Given the description of an element on the screen output the (x, y) to click on. 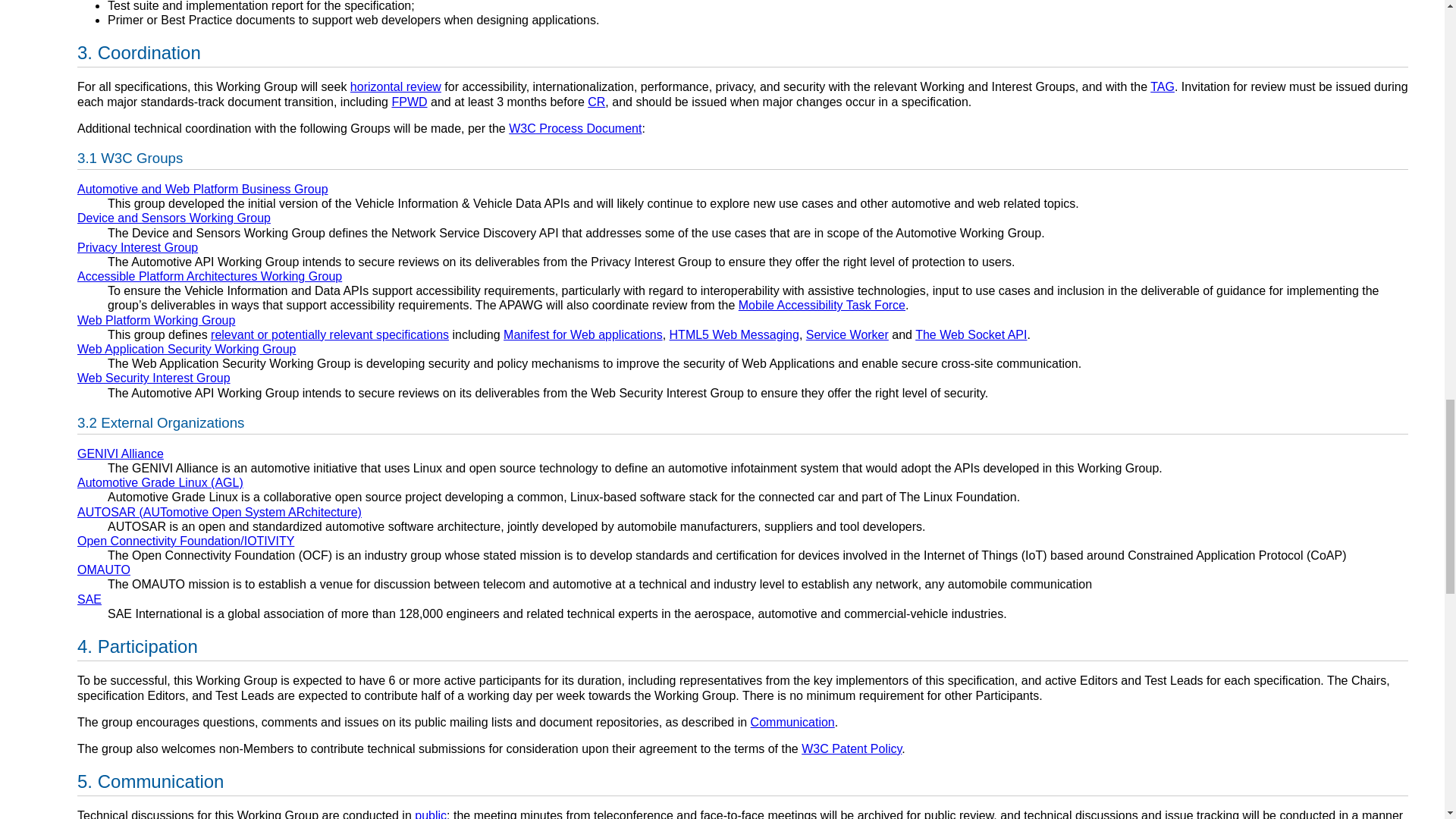
relevant or potentially relevant specifications (329, 334)
Technical Architecture Group (1162, 86)
Web Platform Working Group (155, 319)
Automotive and Web Platform Business Group (203, 188)
Accessible Platform Architectures Working Group (209, 276)
Candidate Recommendation (596, 101)
W3C Process Document (575, 128)
First Public Working Draft (408, 101)
horizontal review (395, 86)
Privacy Interest Group (137, 246)
